Given the description of an element on the screen output the (x, y) to click on. 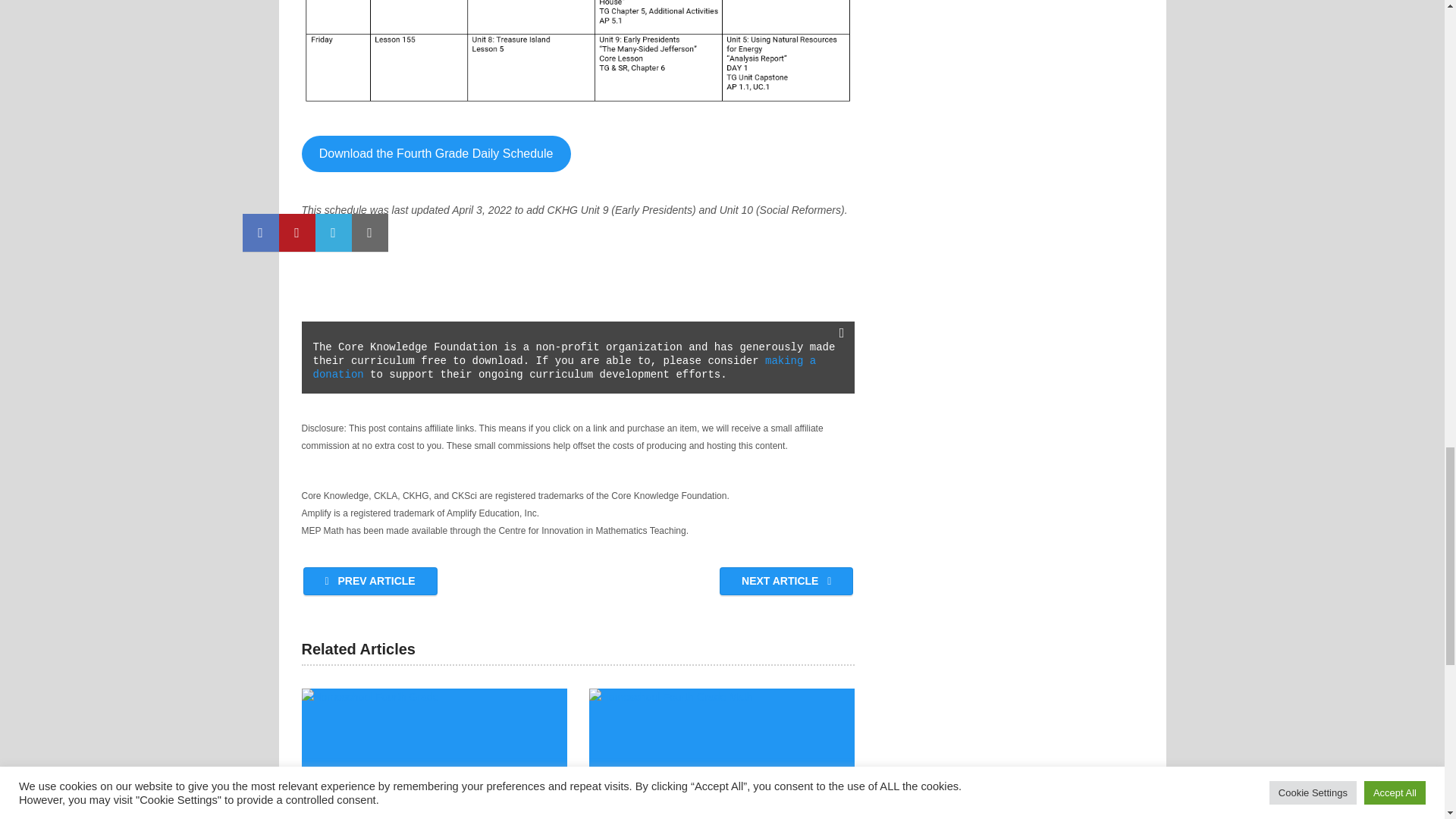
making a donation (567, 367)
NEXT ARTICLE (786, 581)
Download the Fourth Grade Daily Schedule (435, 153)
Homeschool Fourth Grade (434, 753)
Homeschool Fourth Grade Math (721, 753)
PREV ARTICLE (370, 581)
